Given the description of an element on the screen output the (x, y) to click on. 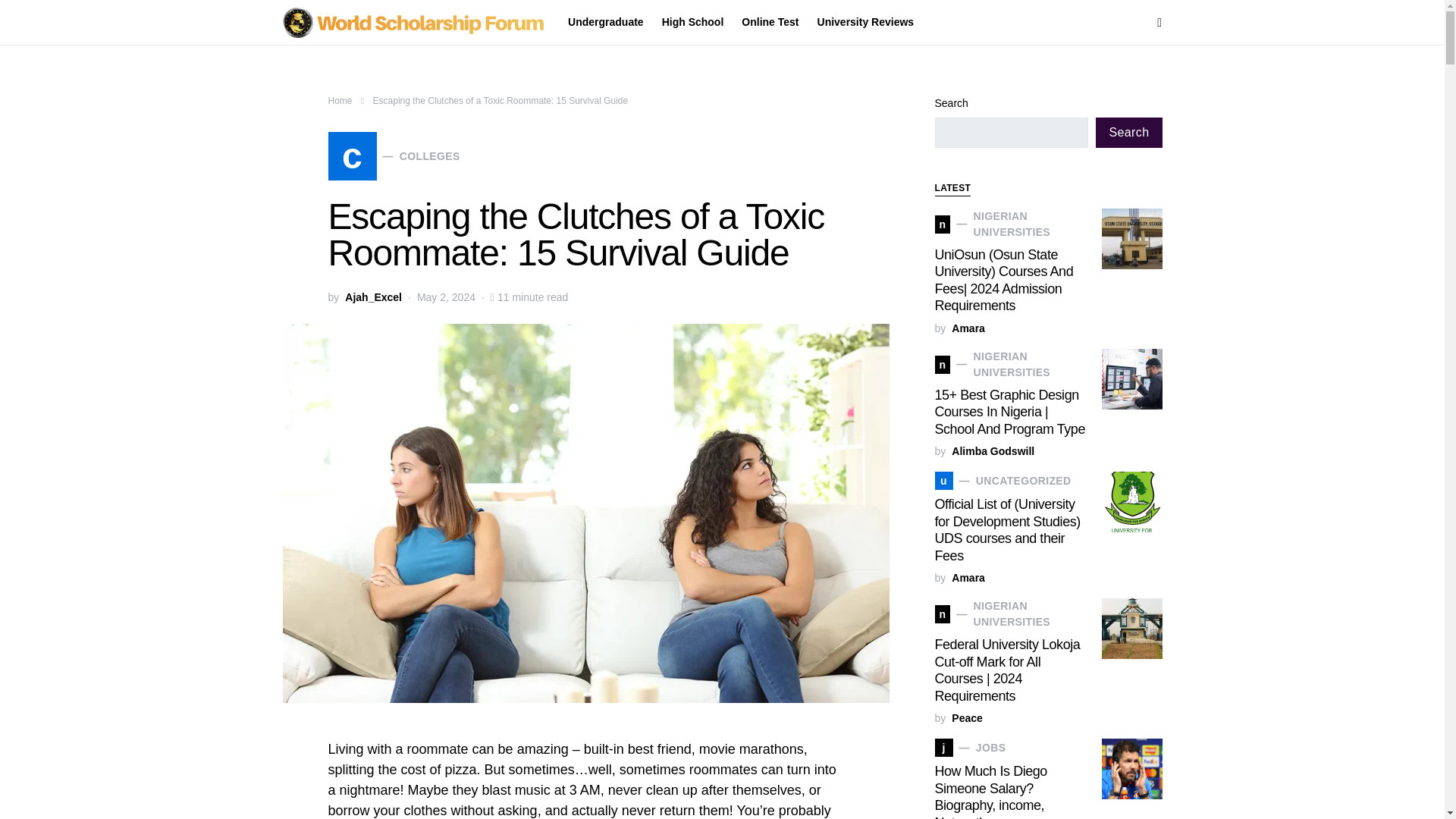
University Reviews (861, 22)
High School (692, 22)
View all posts by Alimba Godswill (992, 452)
Home (339, 100)
View all posts by Amara (968, 328)
Undergraduate (609, 22)
View all posts by Peace (966, 719)
View all posts by Amara (968, 578)
Online Test (770, 22)
